Given the description of an element on the screen output the (x, y) to click on. 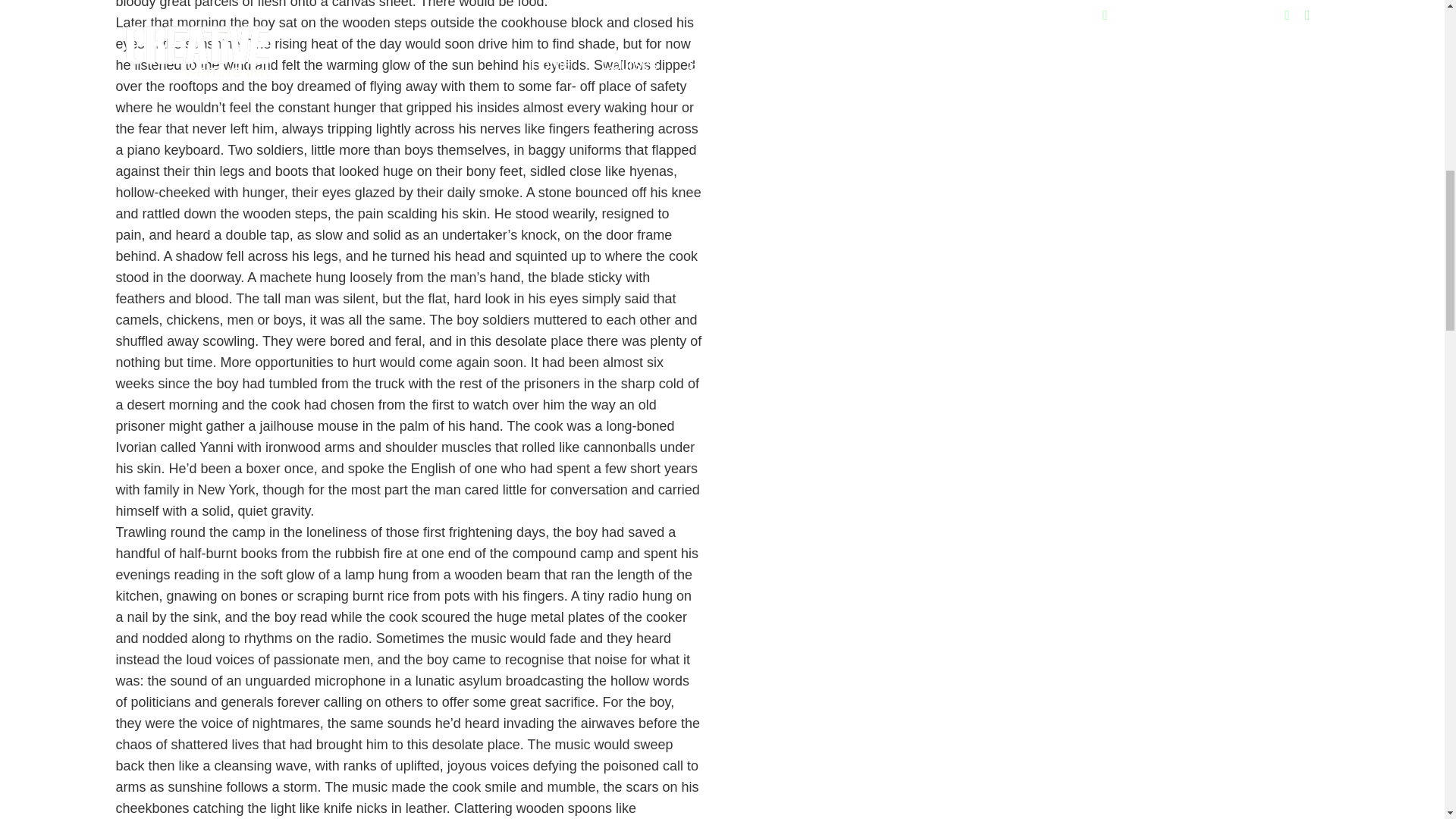
Back to top (1413, 37)
